Given the description of an element on the screen output the (x, y) to click on. 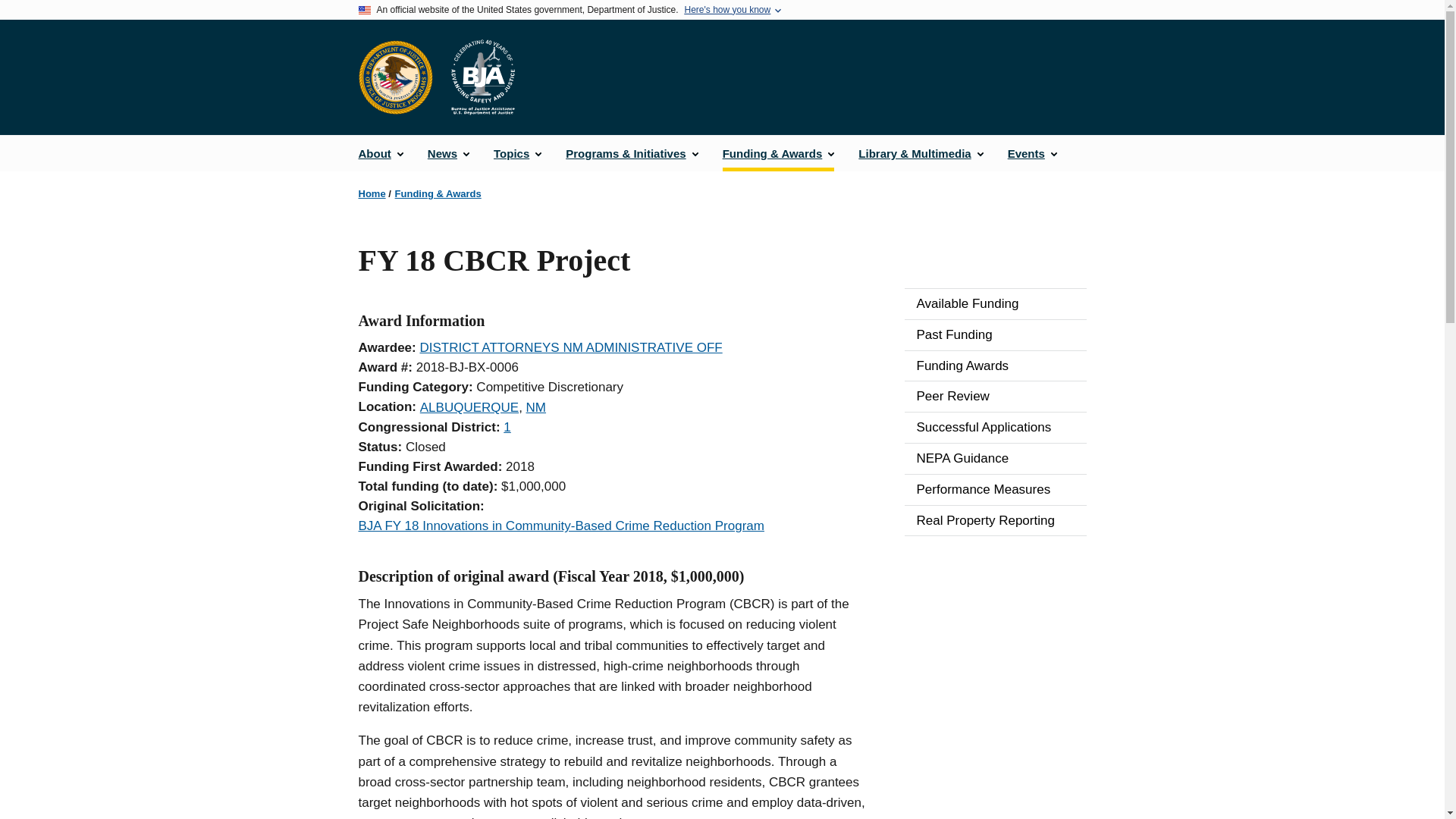
Topics (517, 153)
NEPA Guidance (995, 458)
About (380, 153)
Real Property Reporting (995, 521)
Events (1031, 153)
Performance Measures (995, 490)
Here's how you know (727, 9)
DISTRICT ATTORNEYS NM ADMINISTRATIVE OFF (570, 347)
Past Funding (995, 335)
Peer Review (995, 396)
